Given the description of an element on the screen output the (x, y) to click on. 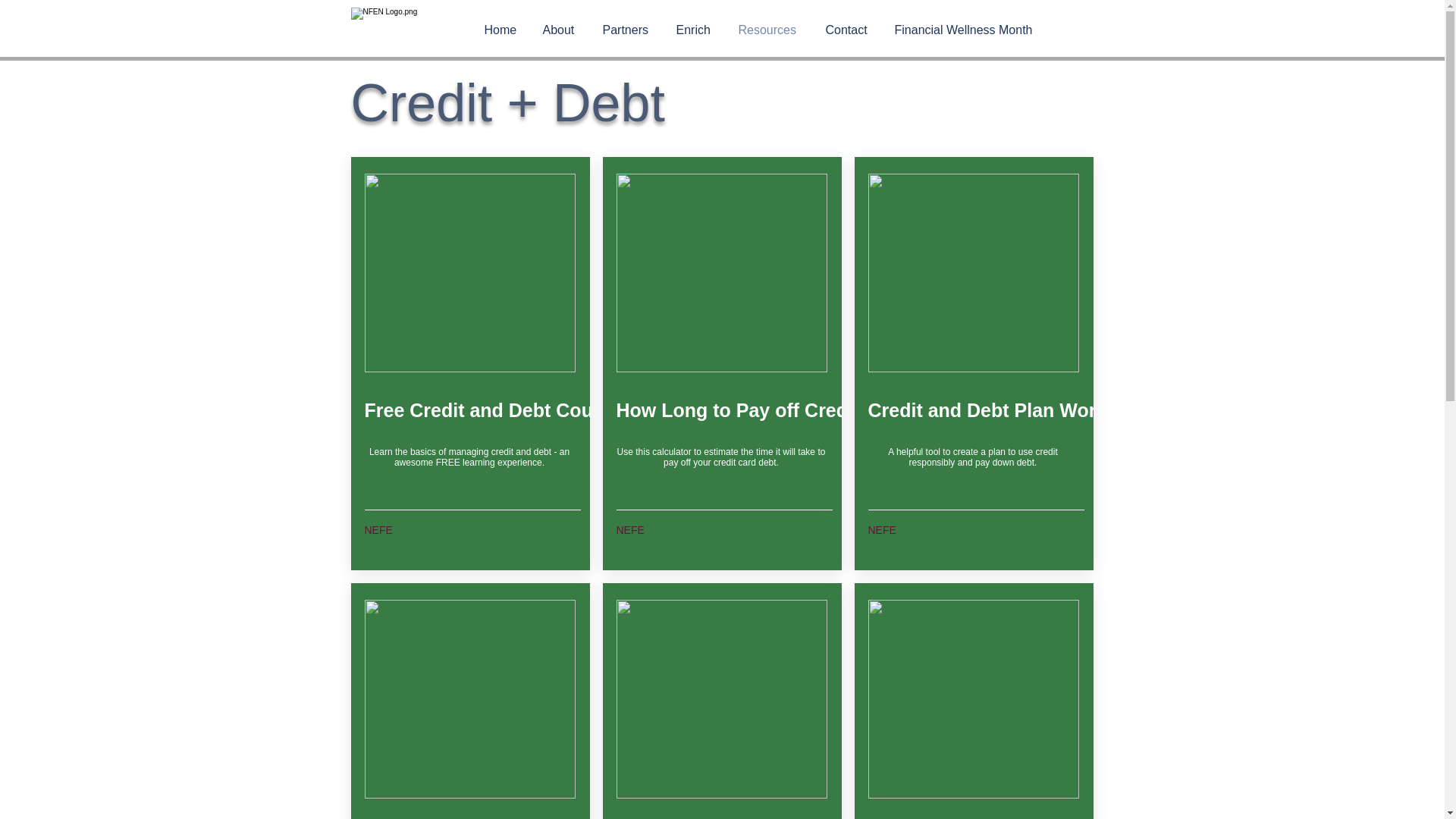
Image by Paul Felberbauer.jpg (469, 698)
Enrich (699, 30)
Credit and Debt Plan Worksheet (1011, 410)
How Long to Pay off Credit Card? (766, 410)
Financial Wellness Month (971, 30)
Stressed Man.jpg (721, 698)
Image by NeONBRAND.jpg (469, 272)
Contact (851, 30)
Free Credit and Debt Course (492, 410)
Build Credit and Control Debt (1000, 812)
